Given the description of an element on the screen output the (x, y) to click on. 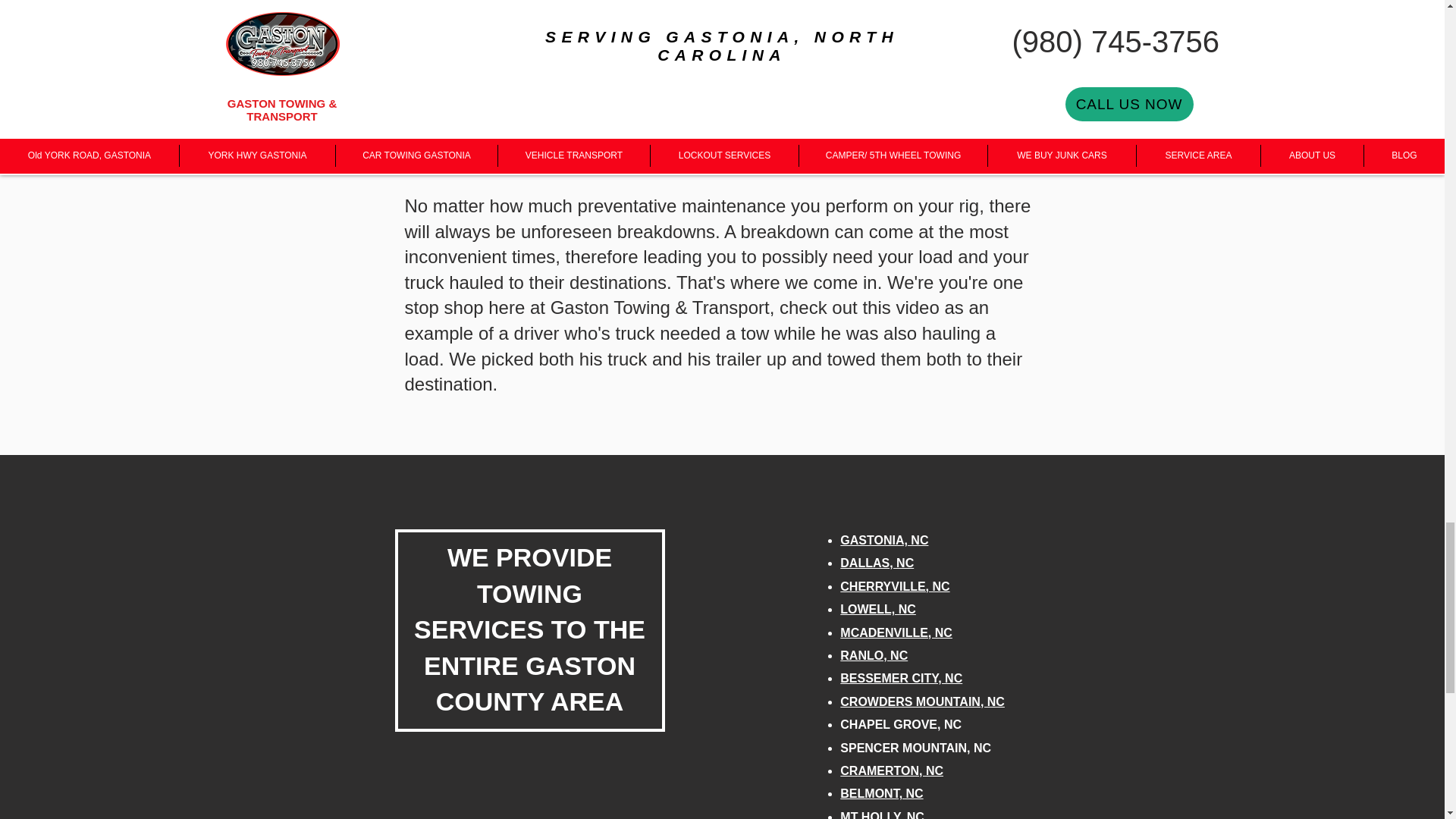
MCADENVILLE, NC (896, 632)
CROWDERS MOUNTAIN, NC (922, 701)
GASTONIA, NC (884, 540)
BESSEMER CITY, NC (901, 677)
BELMONT, NC (881, 793)
DALLAS, NC (877, 562)
RANLO, NC (873, 655)
CRAMERTON, NC (891, 770)
LOWELL, NC (877, 608)
CHERRYVILLE, NC (894, 585)
MT HOLLY, NC (882, 814)
